Given the description of an element on the screen output the (x, y) to click on. 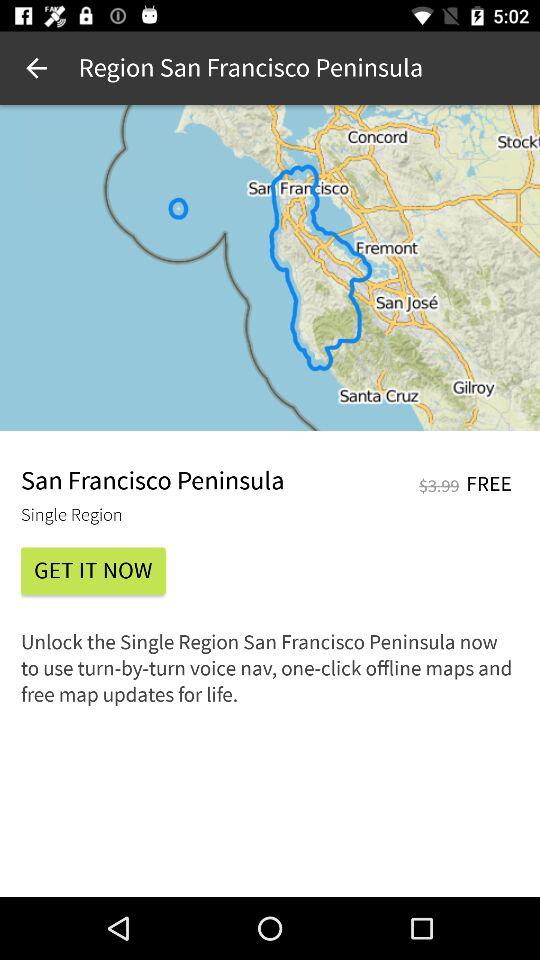
turn off app next to the region san francisco item (36, 68)
